Given the description of an element on the screen output the (x, y) to click on. 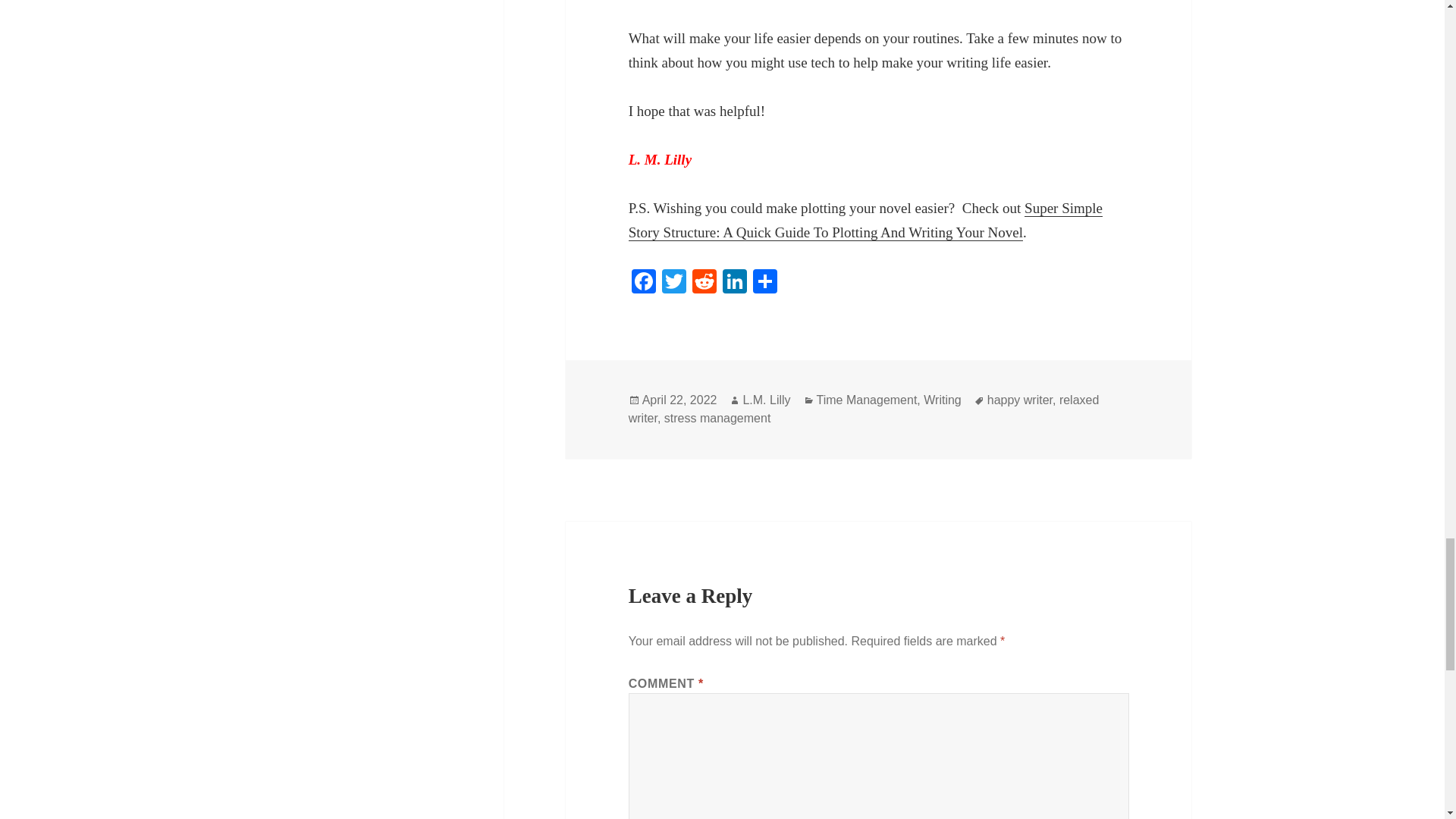
LinkedIn (734, 283)
Reddit (703, 283)
Facebook (643, 283)
Twitter (673, 283)
Facebook (643, 283)
